Given the description of an element on the screen output the (x, y) to click on. 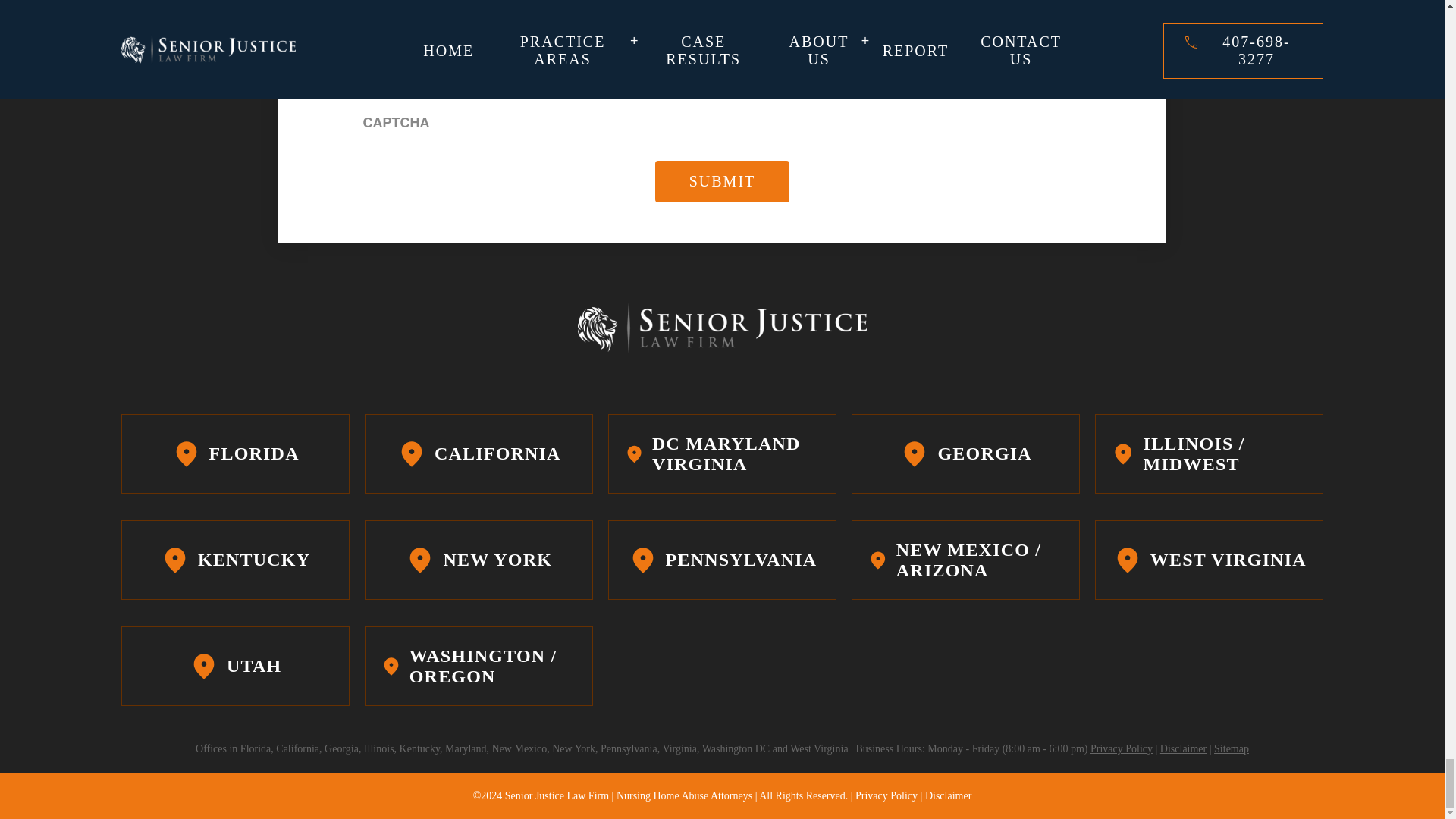
Submit (722, 181)
